Given the description of an element on the screen output the (x, y) to click on. 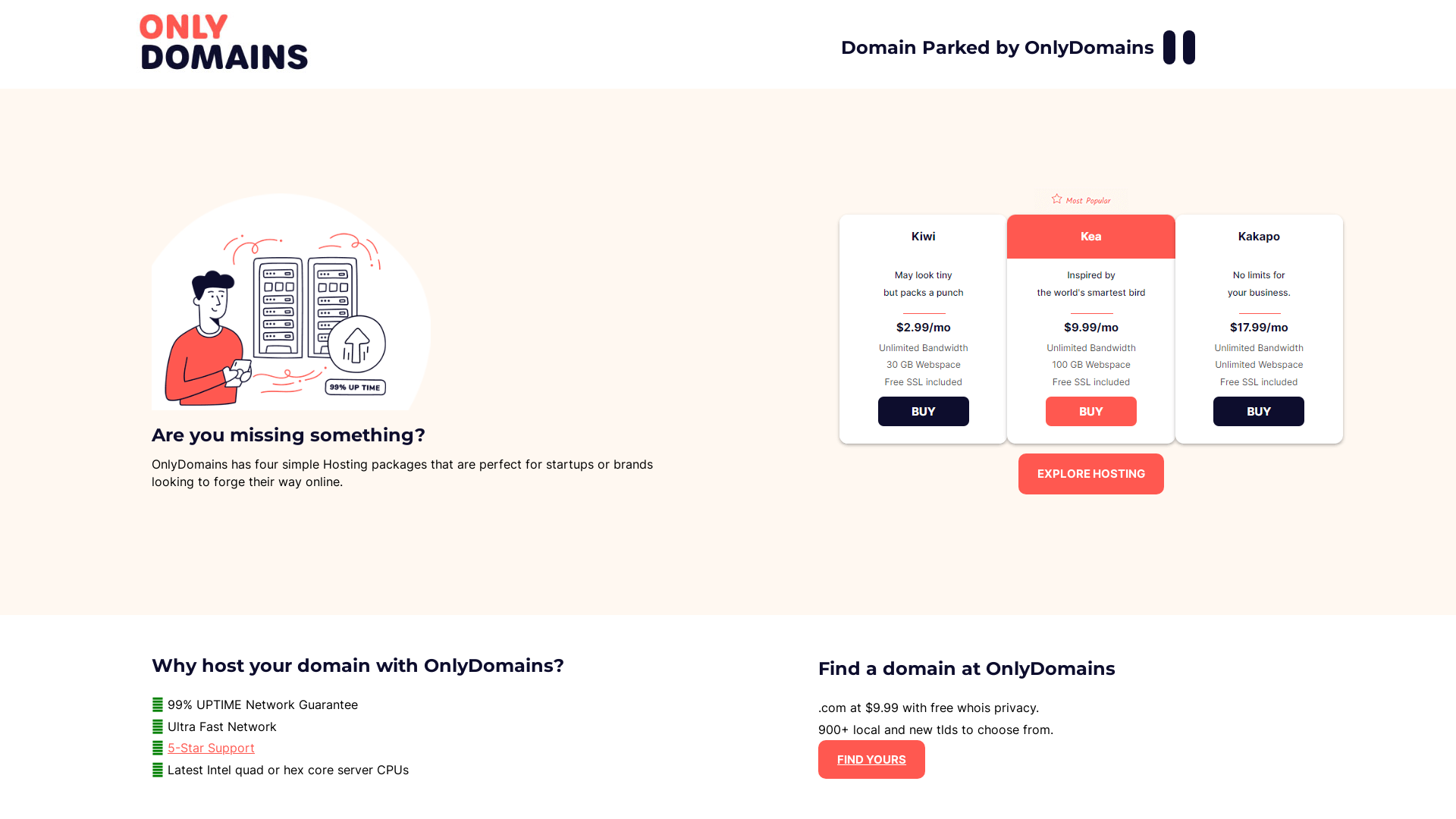
5-Star Support Element type: text (210, 747)
FIND YOURS Element type: text (871, 759)
OnlyDomains Twitter Element type: hover (1188, 47)
OnlyDomains Facebook Element type: hover (1169, 47)
EXPLORE HOSTING Element type: text (1091, 473)
